Given the description of an element on the screen output the (x, y) to click on. 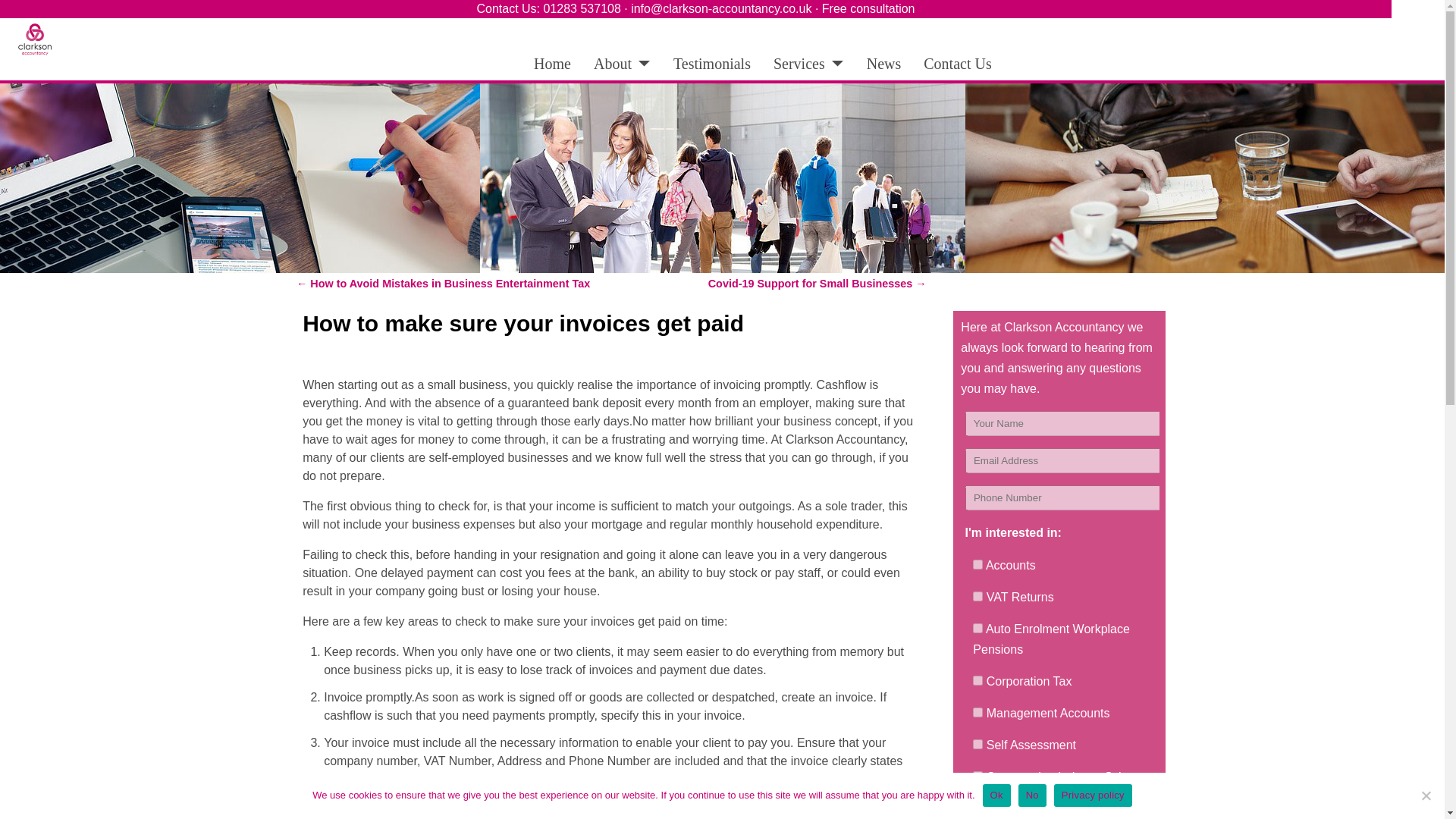
Corporation Tax (977, 680)
VAT Returns (977, 596)
Contact Us (957, 63)
Auto Enrolment Workplace Pensions (977, 628)
Services (808, 63)
News (884, 63)
About (622, 63)
Testimonials (711, 63)
Bookkeeping Systems (977, 808)
Construction Industry Scheme (977, 776)
Home (552, 63)
No (1425, 795)
Self Assessment (977, 744)
Management Accounts (977, 712)
Accounts (977, 564)
